Given the description of an element on the screen output the (x, y) to click on. 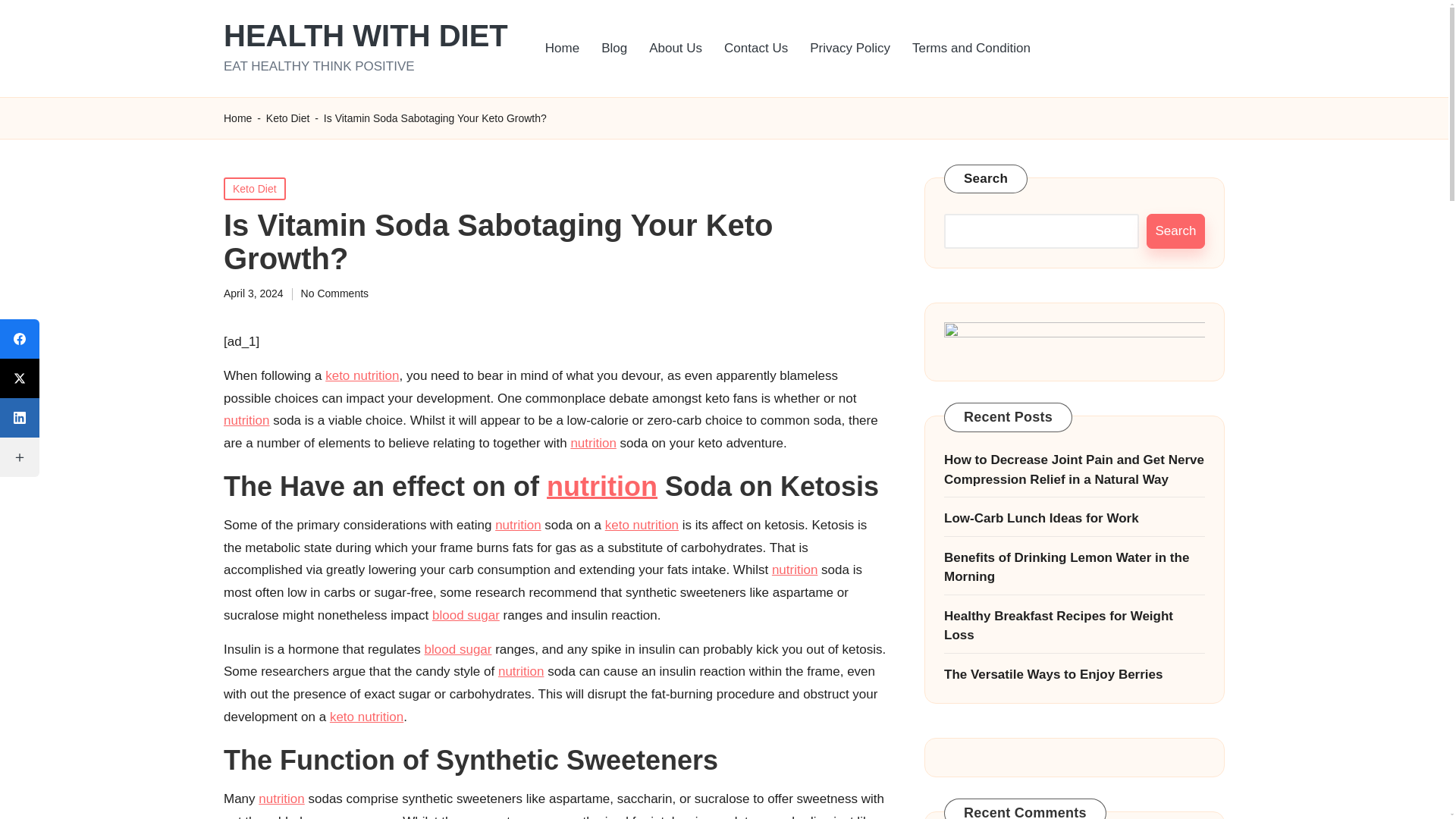
About Us (676, 48)
Contact Us (755, 48)
keto nutrition (641, 524)
Keto Diet (254, 188)
keto nutrition (361, 375)
No Comments (334, 293)
nutrition (602, 486)
Privacy Policy (850, 48)
nutrition (592, 442)
Terms and Condition (971, 48)
HEALTH WITH DIET (366, 35)
Home (237, 117)
nutrition (517, 524)
blood sugar (465, 615)
keto nutrition (366, 716)
